Given the description of an element on the screen output the (x, y) to click on. 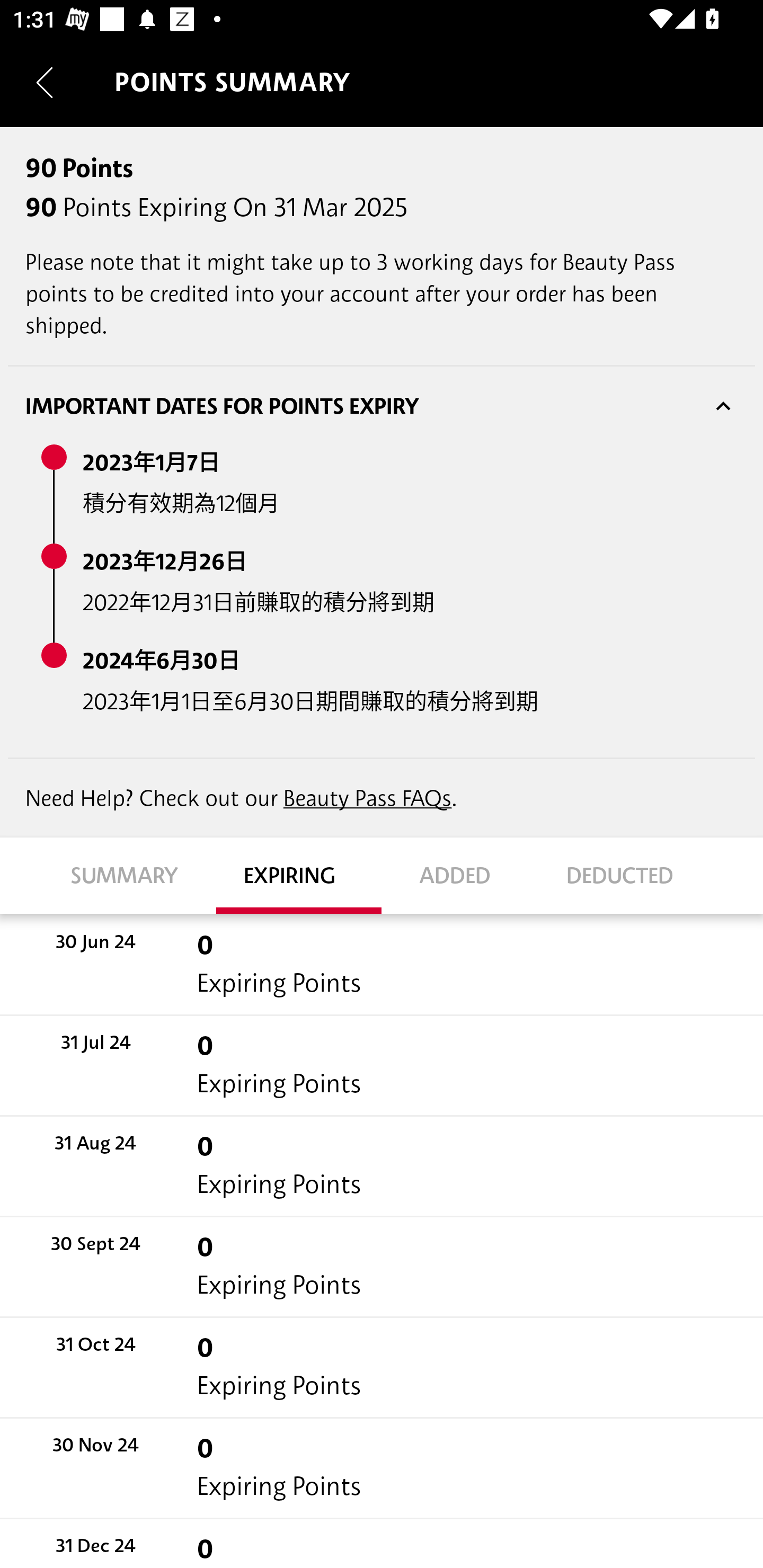
Navigate up (44, 82)
IMPORTANT DATES FOR POINTS EXPIRY (381, 406)
SUMMARY (133, 875)
ADDED (464, 875)
DEDUCTED (629, 875)
